Given the description of an element on the screen output the (x, y) to click on. 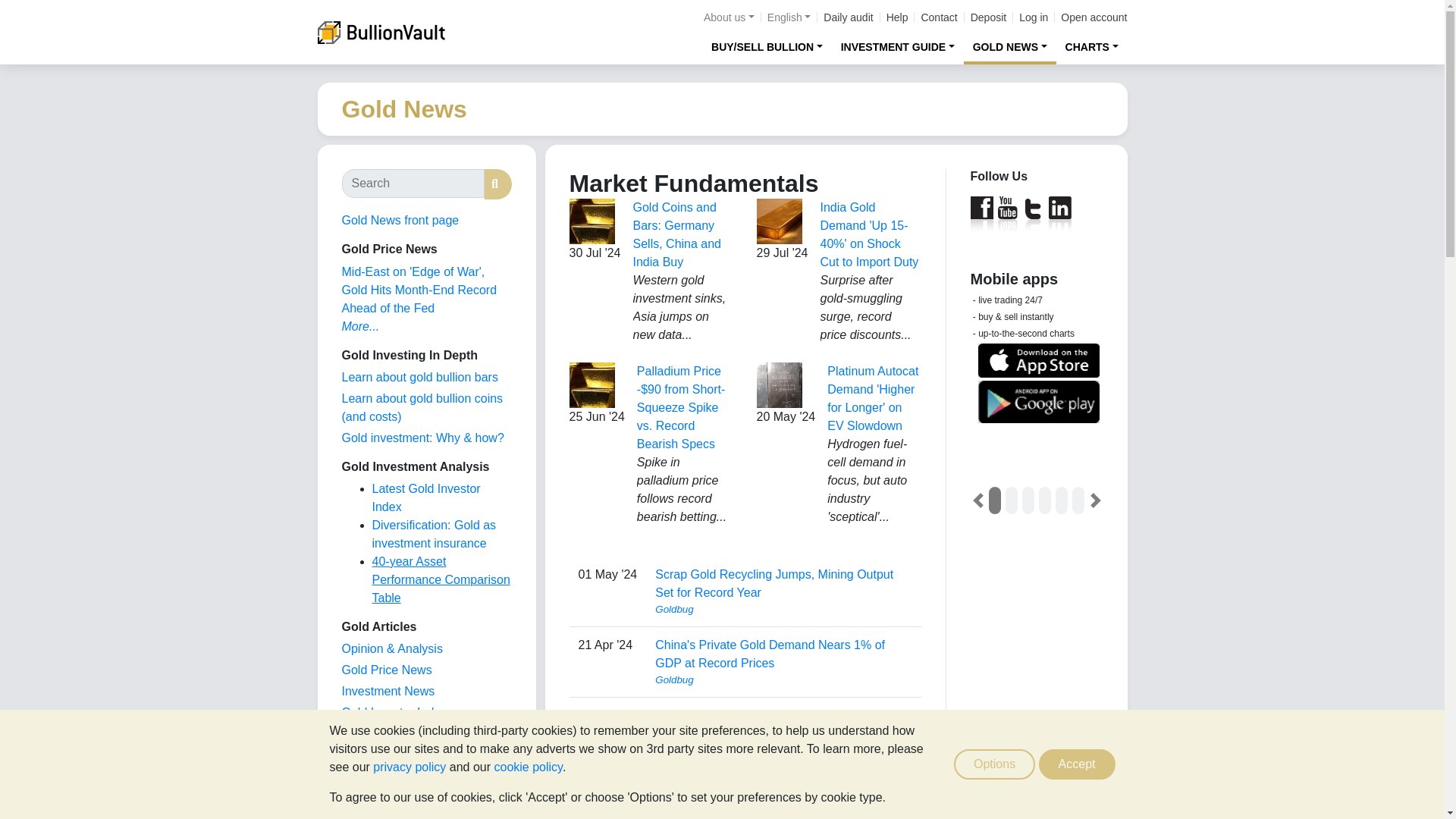
privacy policy (408, 766)
Gold in History (380, 775)
English (788, 17)
Daily audit (848, 17)
Accept (1077, 764)
Help (897, 17)
Gold Price News (385, 669)
Gold Infographics (387, 733)
View user profile. (783, 750)
Enter the terms you wish to search for. (411, 183)
Log in (1033, 17)
INVESTMENT GUIDE (897, 46)
The View from the Vault (391, 648)
Gold Investor Index (393, 712)
View user profile. (783, 609)
